Given the description of an element on the screen output the (x, y) to click on. 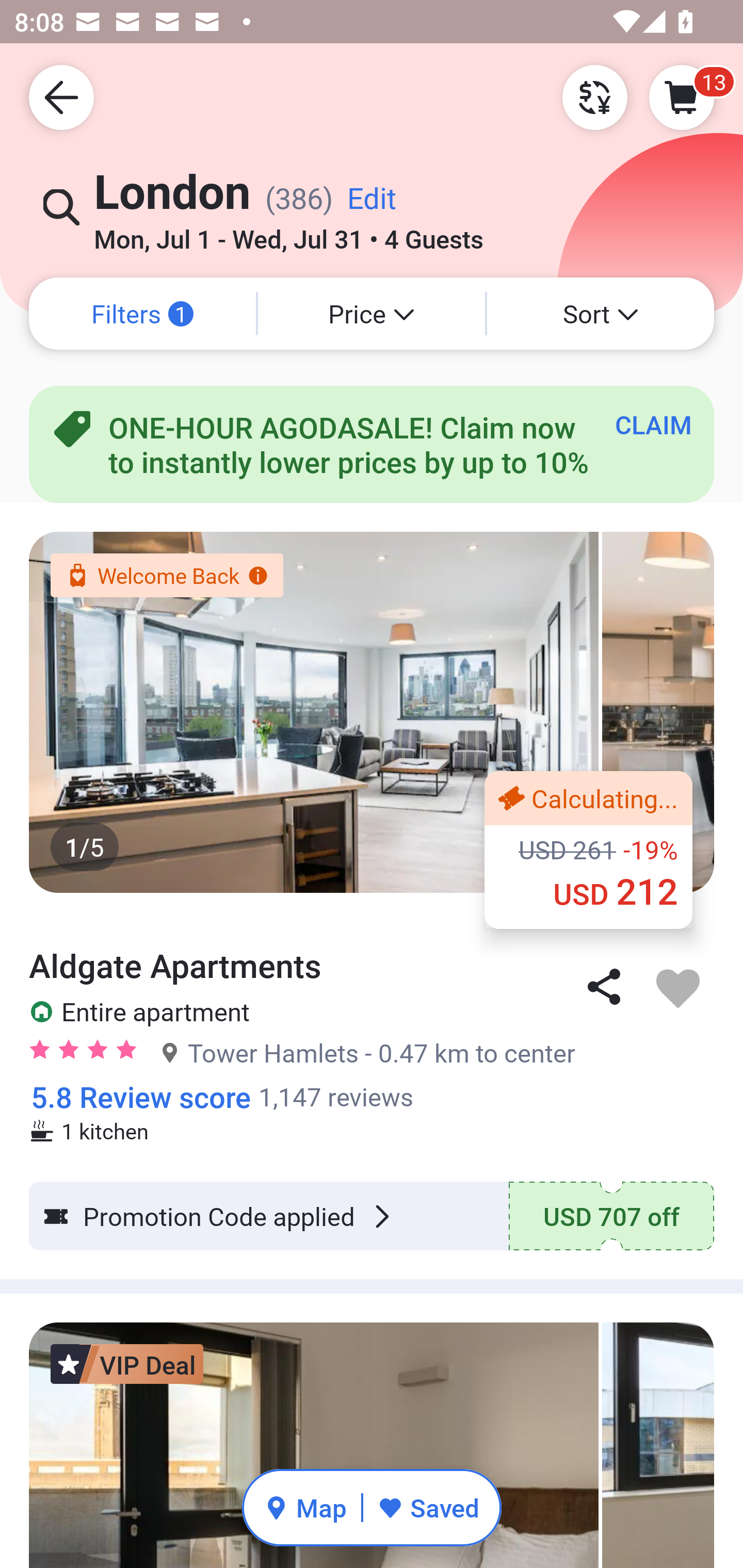
Filters 1 (141, 313)
Price (371, 313)
Sort (600, 313)
CLAIM (653, 424)
1/5 (371, 711)
Welcome Back (166, 575)
Calculating... ‪USD 261 -19% ‪USD 212 (588, 849)
Promotion Code applied USD 707 off (371, 1215)
VIP Deal (126, 1364)
Map (305, 1507)
Saved (428, 1507)
